Given the description of an element on the screen output the (x, y) to click on. 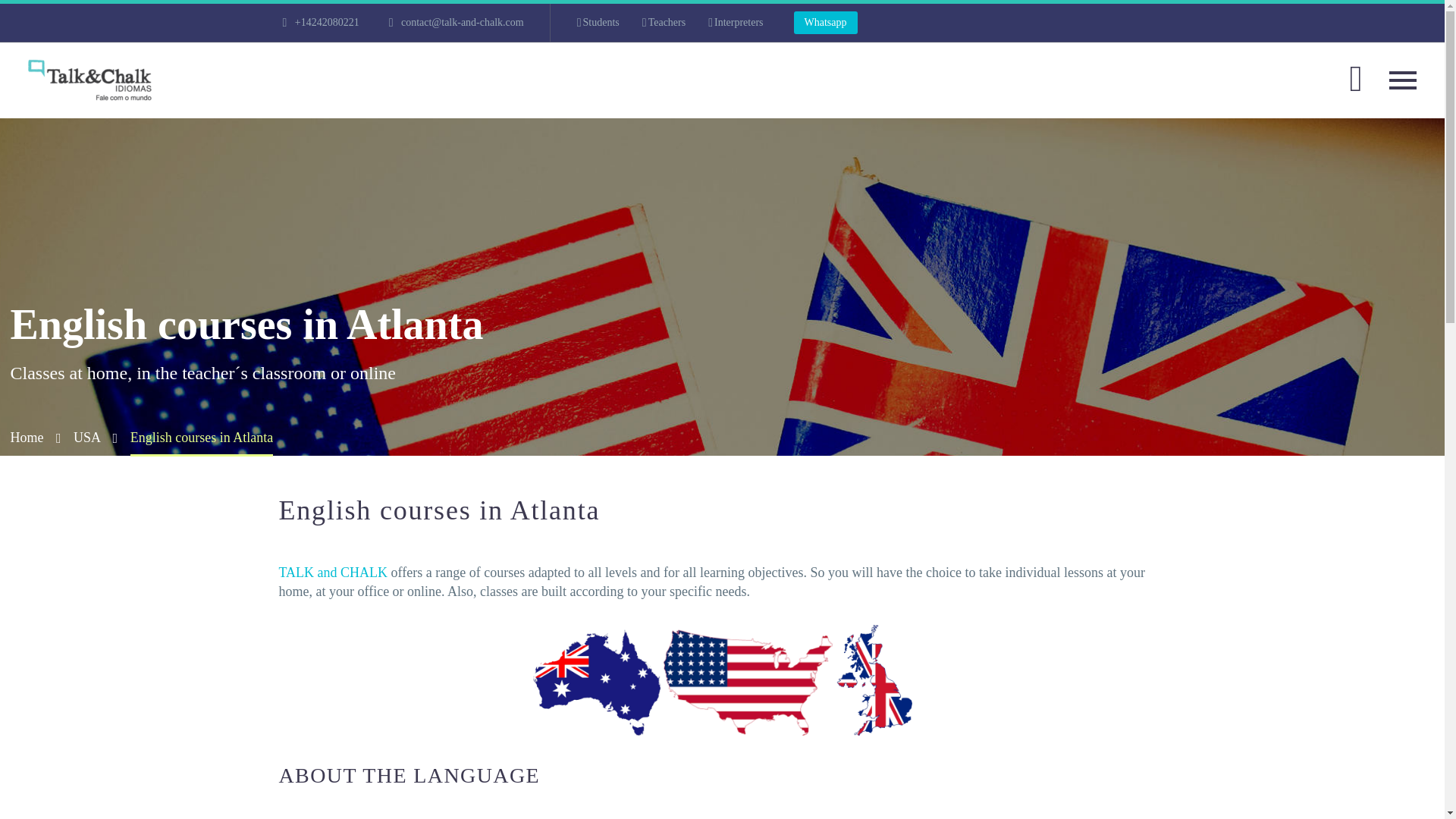
Teachers (663, 22)
Students (598, 22)
Whatsapp (825, 22)
Interpreters (734, 22)
